Given the description of an element on the screen output the (x, y) to click on. 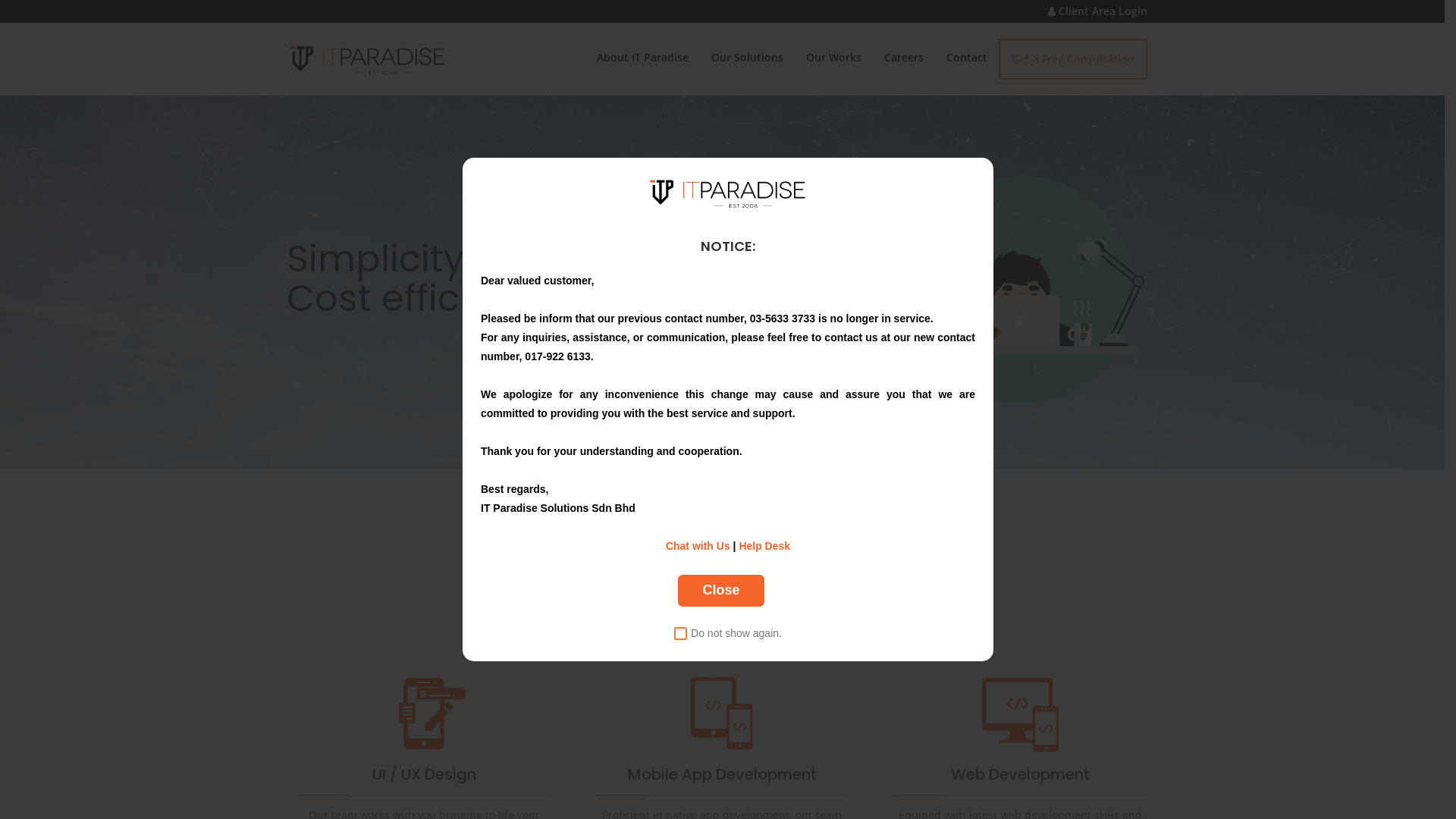
Contact Element type: text (965, 57)
Help Desk Element type: text (764, 545)
About IT Paradise Element type: text (642, 57)
Web Development-OPT3 Element type: hover (1020, 713)
UI opt-03 Element type: hover (423, 713)
017-922 6133 Element type: text (556, 356)
Our Solutions Element type: text (746, 57)
Our Works Element type: text (833, 57)
Chat with Us Element type: text (697, 545)
Close Element type: text (720, 590)
Get a Free Consultation Element type: text (1071, 58)
Mobile App OPT-03 Element type: hover (721, 713)
Careers Element type: text (903, 57)
